Given the description of an element on the screen output the (x, y) to click on. 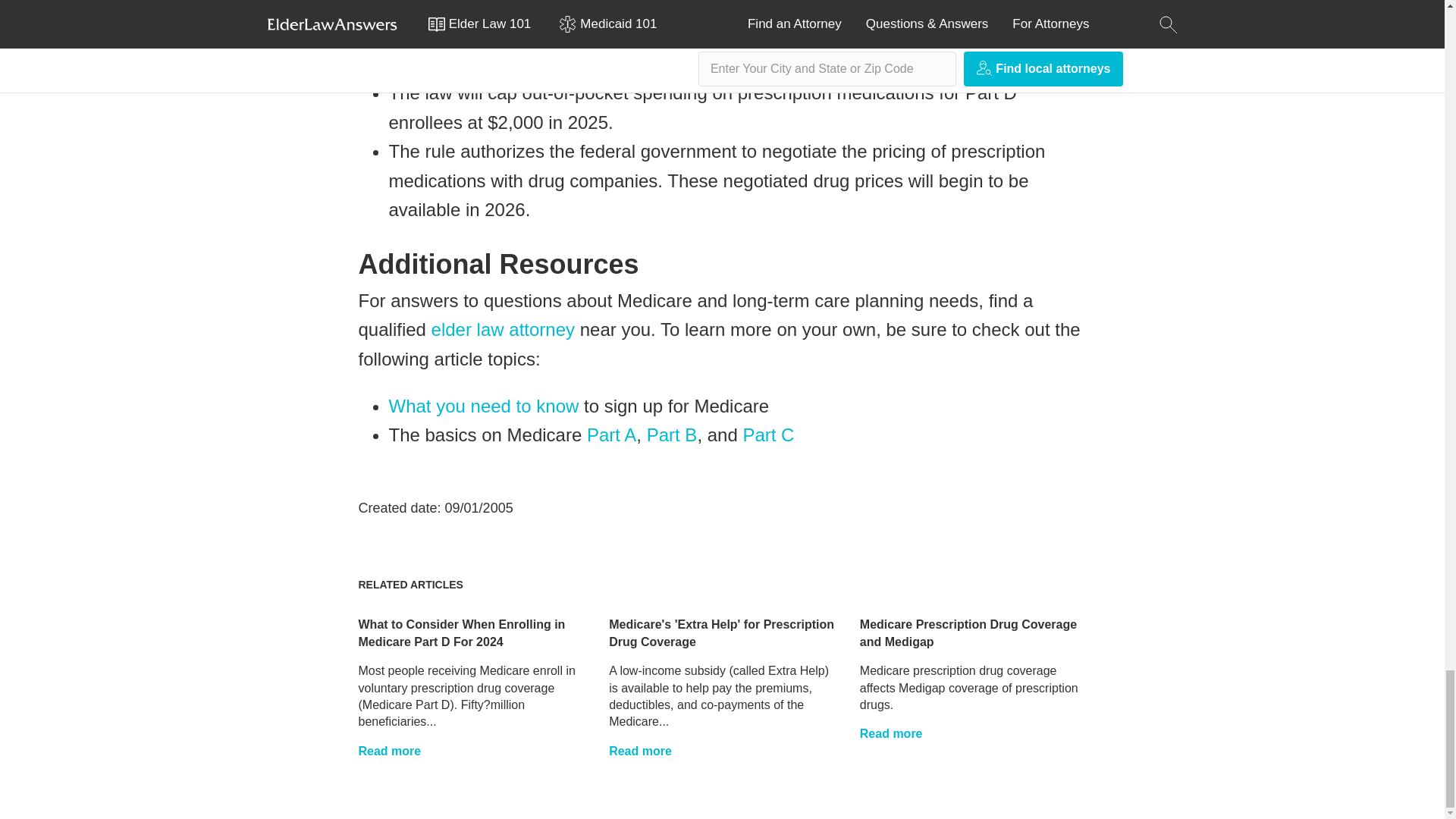
Medicare's 'Extra Help' for Prescription Drug Coverage (721, 632)
What to Consider When Enrolling in Medicare Part D For 2024 (461, 632)
Medicare Prescription Drug Coverage and Medigap (891, 733)
elder law attorney (502, 329)
Medicare Prescription Drug Coverage and Medigap (968, 632)
What to Consider When Enrolling in Medicare Part D For 2024 (389, 751)
Medicare's 'Extra Help' for Prescription Drug Coverage (639, 751)
